Given the description of an element on the screen output the (x, y) to click on. 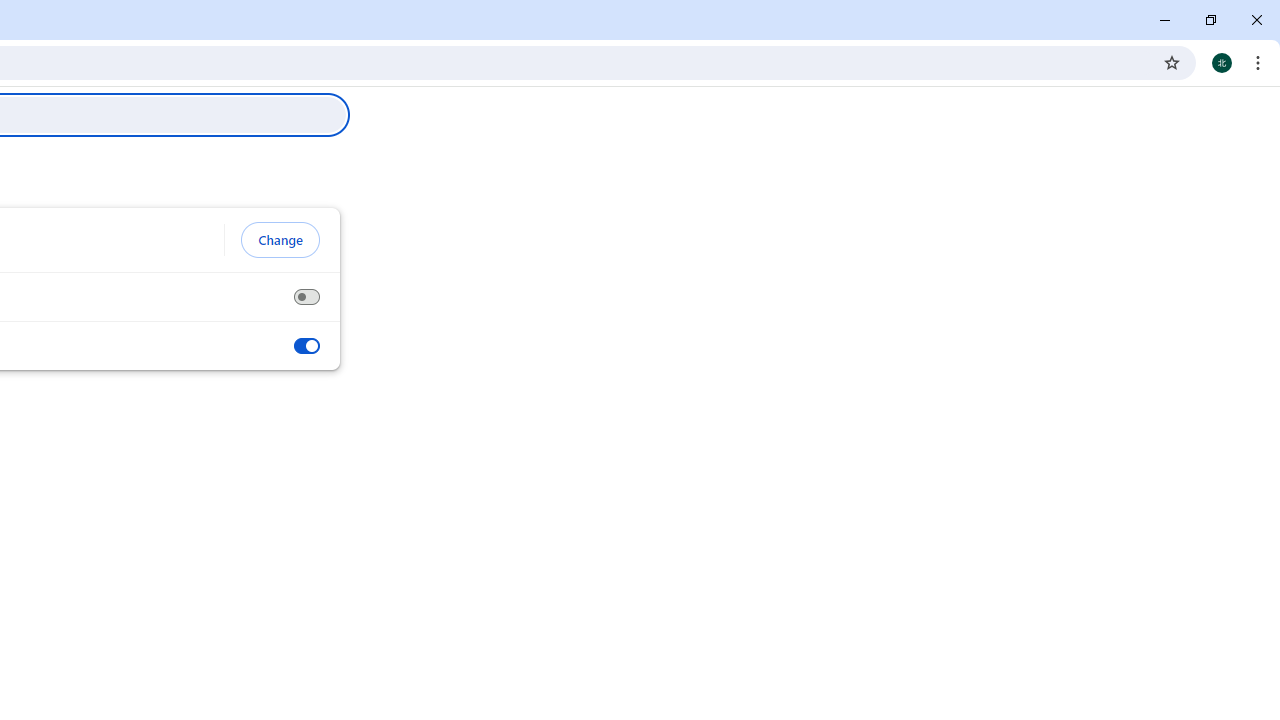
Show downloads when they're done (306, 345)
Ask where to save each file before downloading (306, 297)
Change (280, 240)
